Given the description of an element on the screen output the (x, y) to click on. 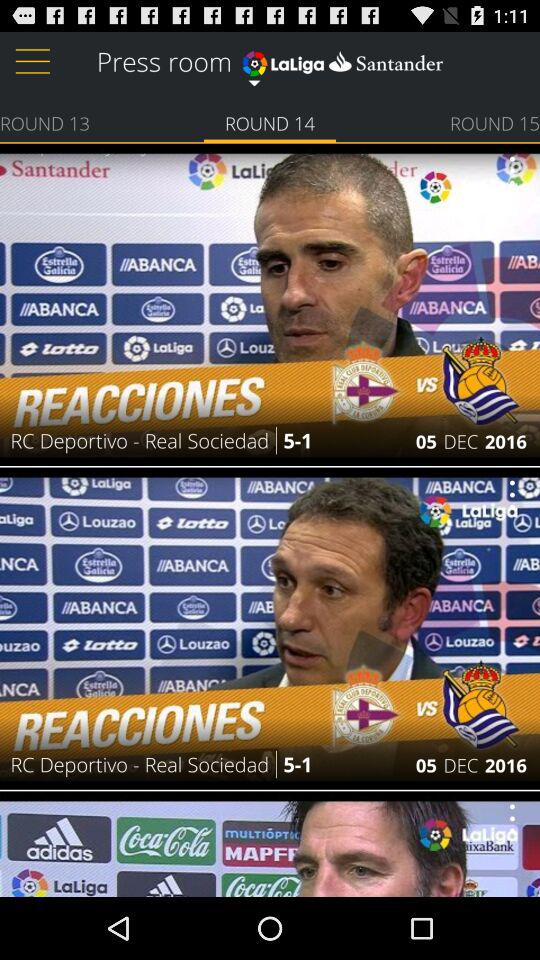
turn on the item to the right of press room app (342, 59)
